Given the description of an element on the screen output the (x, y) to click on. 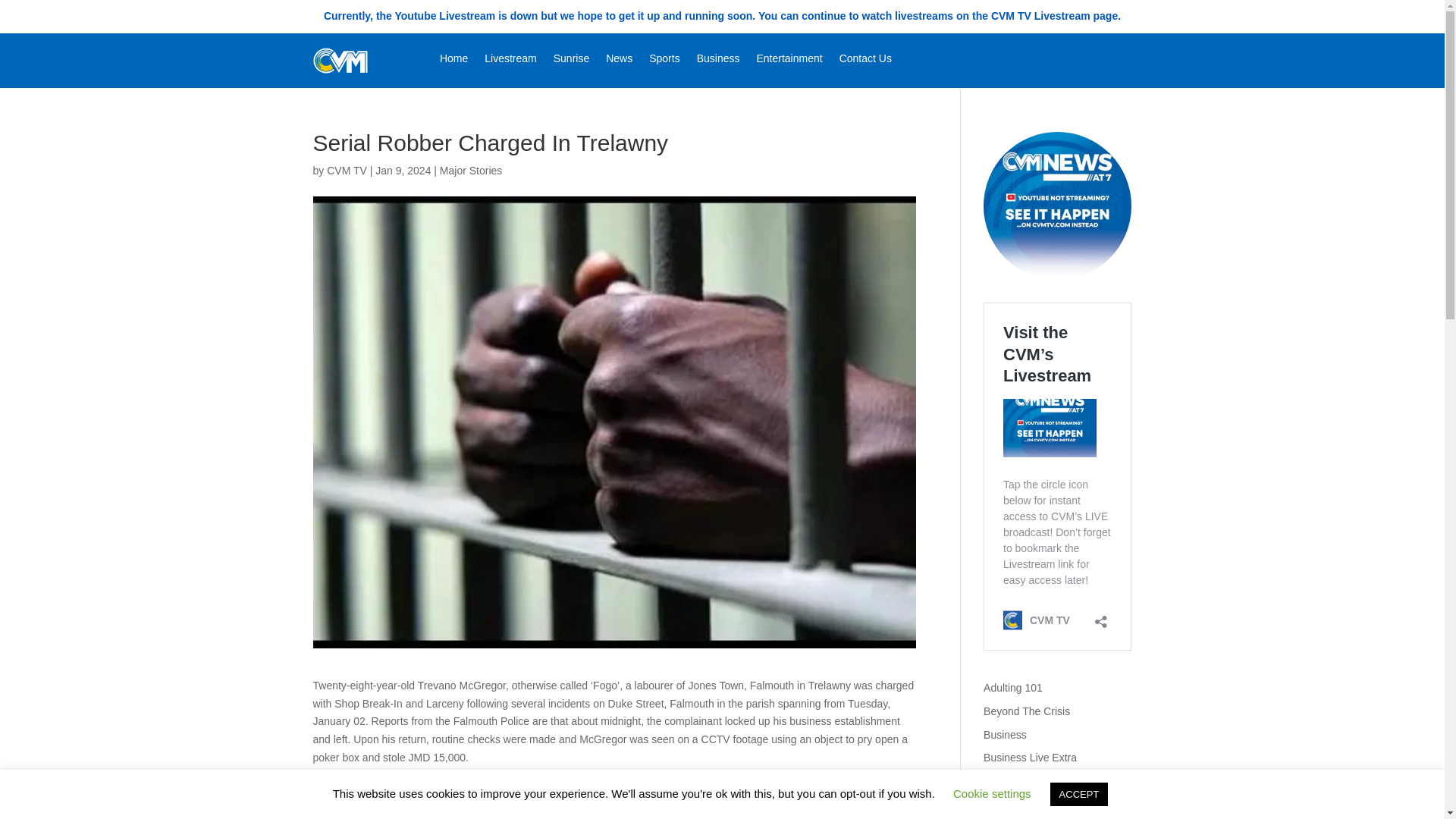
Sports (664, 61)
Major Stories (470, 170)
COVID-19 (1008, 804)
Business News (1020, 780)
Livestream (509, 61)
Adulting 101 (1013, 687)
Sunrise (571, 61)
Entertainment (788, 61)
LIVE (1057, 205)
Beyond The Crisis (1027, 711)
